Given the description of an element on the screen output the (x, y) to click on. 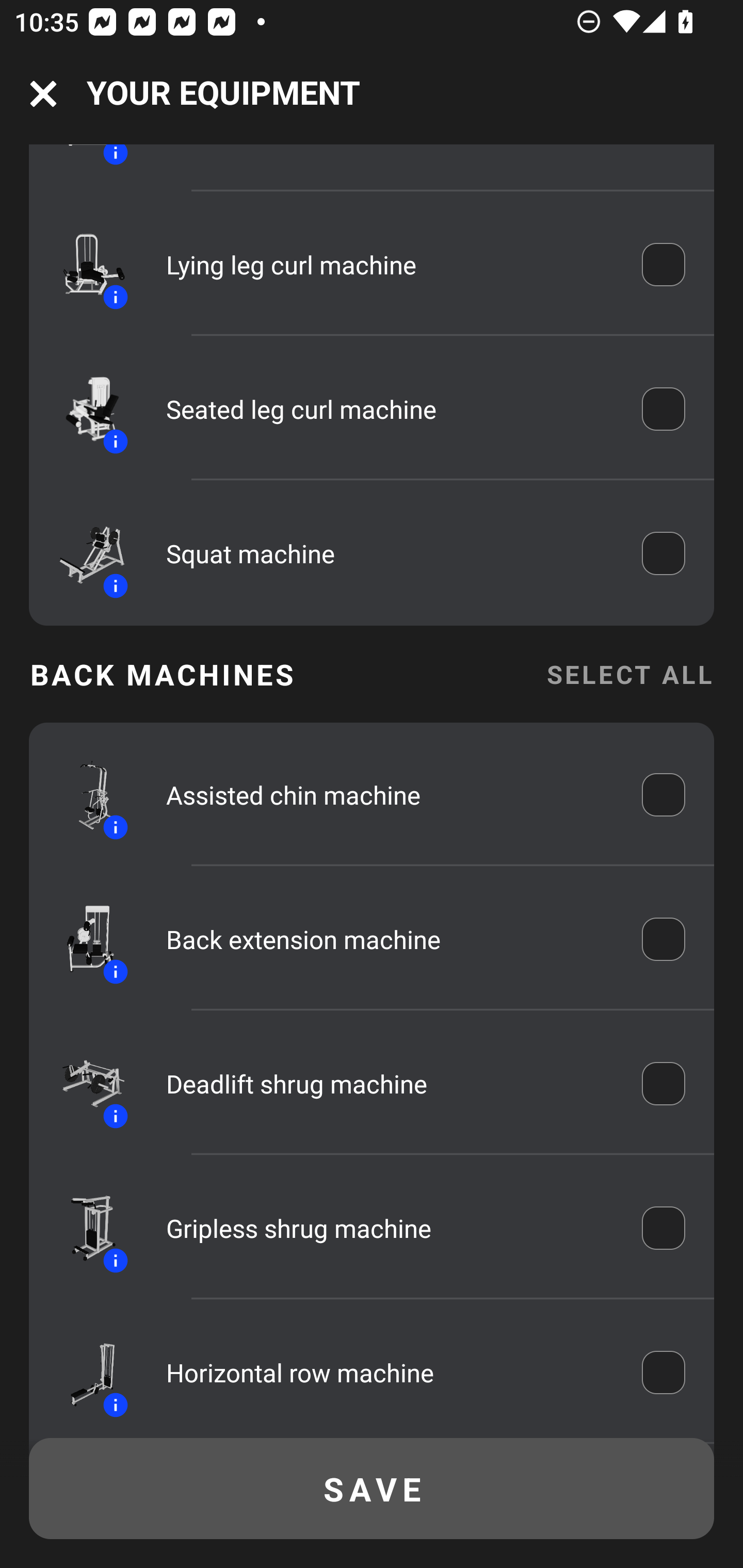
Navigation icon (43, 93)
Equipment icon Information icon (82, 264)
Lying leg curl machine (389, 264)
Equipment icon Information icon (82, 408)
Seated leg curl machine (389, 408)
Equipment icon Information icon (82, 553)
Squat machine (389, 553)
SELECT ALL (629, 674)
Equipment icon Information icon (82, 794)
Assisted chin machine (389, 794)
Equipment icon Information icon (82, 939)
Back extension machine (389, 939)
Equipment icon Information icon (82, 1084)
Deadlift shrug machine (389, 1083)
Equipment icon Information icon (82, 1228)
Gripless shrug machine (389, 1228)
Equipment icon Information icon (82, 1372)
Horizontal row machine (389, 1372)
SAVE (371, 1488)
